Given the description of an element on the screen output the (x, y) to click on. 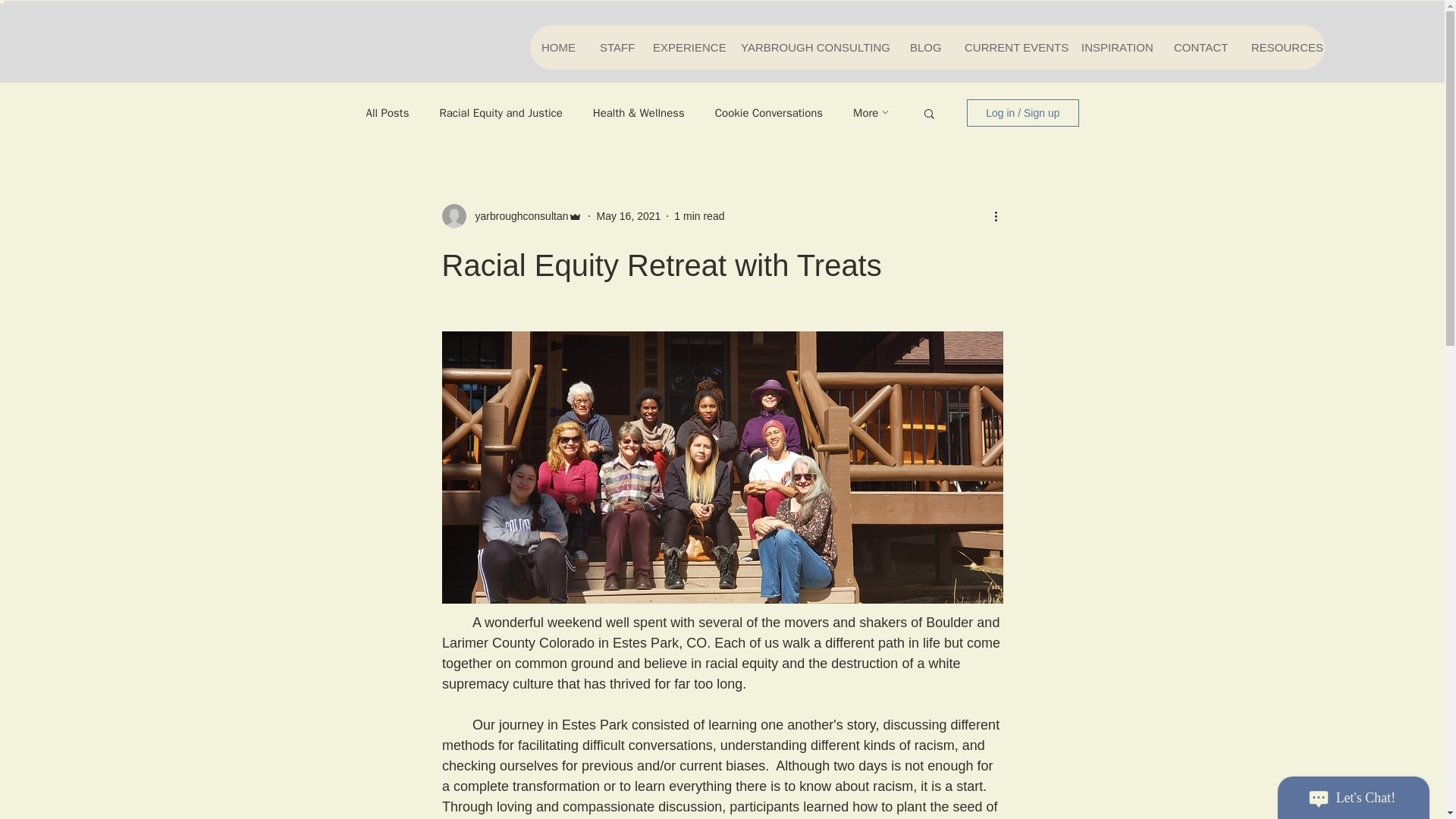
yarbroughconsultan (516, 215)
Cookie Conversations (768, 113)
CURRENT EVENTS (1010, 47)
CONTACT (1200, 47)
HOME (558, 47)
INSPIRATION (1114, 47)
May 16, 2021 (628, 215)
STAFF (614, 47)
YARBROUGH CONSULTING (813, 47)
Racial Equity and Justice (500, 113)
All Posts (387, 113)
RESOURCES (1281, 47)
EXPERIENCE (684, 47)
1 min read (698, 215)
BLOG (925, 47)
